Given the description of an element on the screen output the (x, y) to click on. 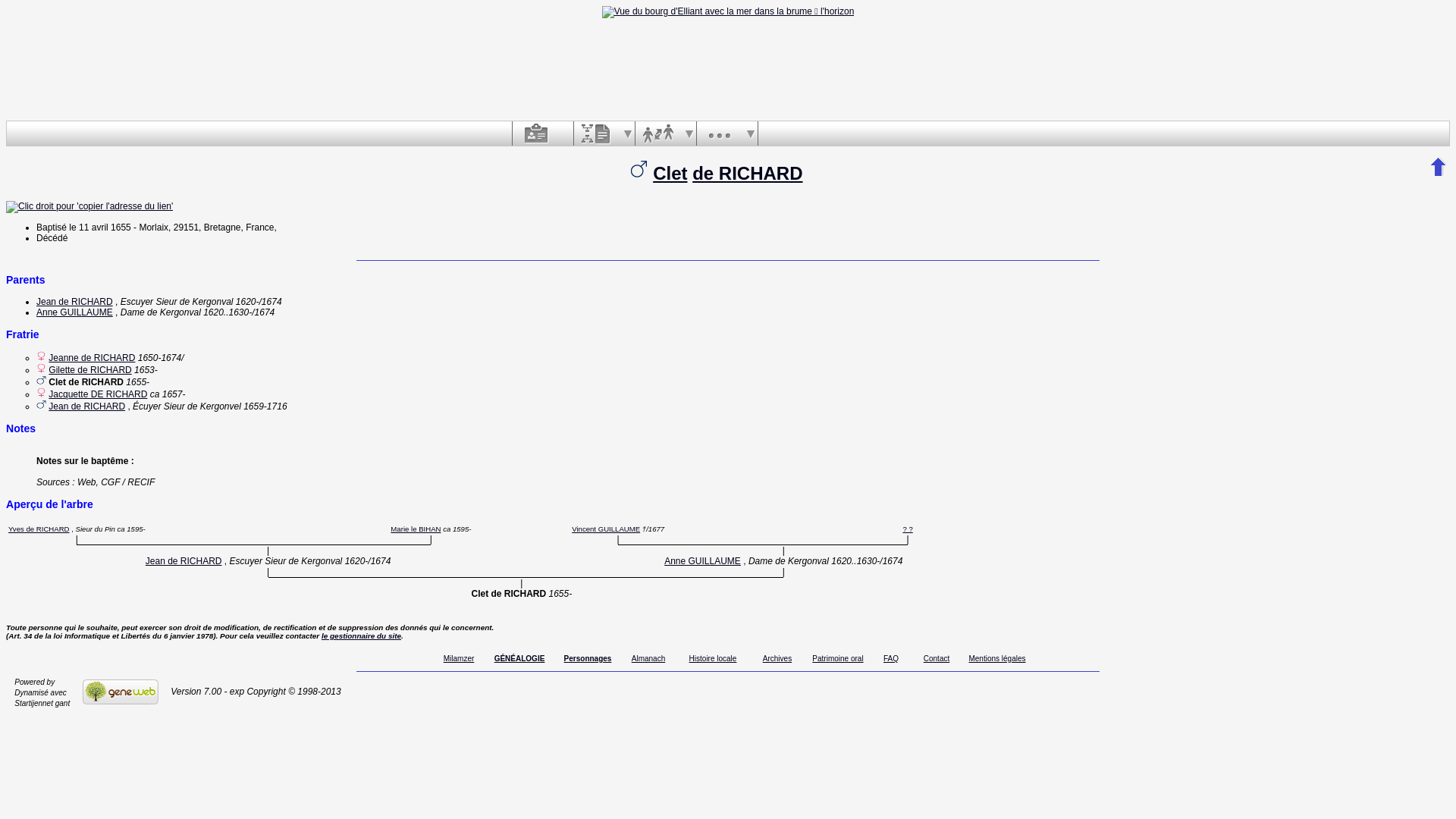
Clet Element type: text (669, 173)
Personne Element type: hover (535, 133)
Jean de RICHARD Element type: text (183, 560)
Anne GUILLAUME Element type: text (74, 312)
Patrimoine oral Element type: text (837, 657)
Jean de RICHARD Element type: text (86, 406)
Jean de RICHARD Element type: text (74, 301)
Accueil Element type: hover (728, 12)
Histoire locale Element type: text (713, 657)
Gilette de RICHARD Element type: text (89, 369)
^^ Element type: hover (1438, 167)
le gestionnaire du site Element type: text (361, 635)
de RICHARD Element type: text (747, 173)
Jacquette DE RICHARD Element type: text (97, 394)
GeneWeb Element type: hover (119, 691)
Contact Element type: text (936, 657)
Ascendants et descendants Element type: hover (596, 133)
Clic droit pour 'copier l'adresse du lien' Element type: hover (89, 206)
<hr (980 px)> Element type: hover (727, 671)
Milamzer Element type: text (458, 657)
FAQ Element type: text (890, 657)
Jeanne de RICHARD Element type: text (91, 357)
Anne GUILLAUME Element type: text (702, 560)
Personnages Element type: text (587, 657)
Yves de RICHARD Element type: text (38, 528)
? ? Element type: text (907, 528)
Vincent GUILLAUME Element type: text (605, 528)
Divers Element type: hover (719, 133)
Marie le BIHAN Element type: text (415, 528)
<hr (980 px)> Element type: hover (727, 260)
Almanach Element type: text (648, 657)
Archives Element type: text (776, 657)
le 11 avril 1655 Element type: text (99, 227)
